Given the description of an element on the screen output the (x, y) to click on. 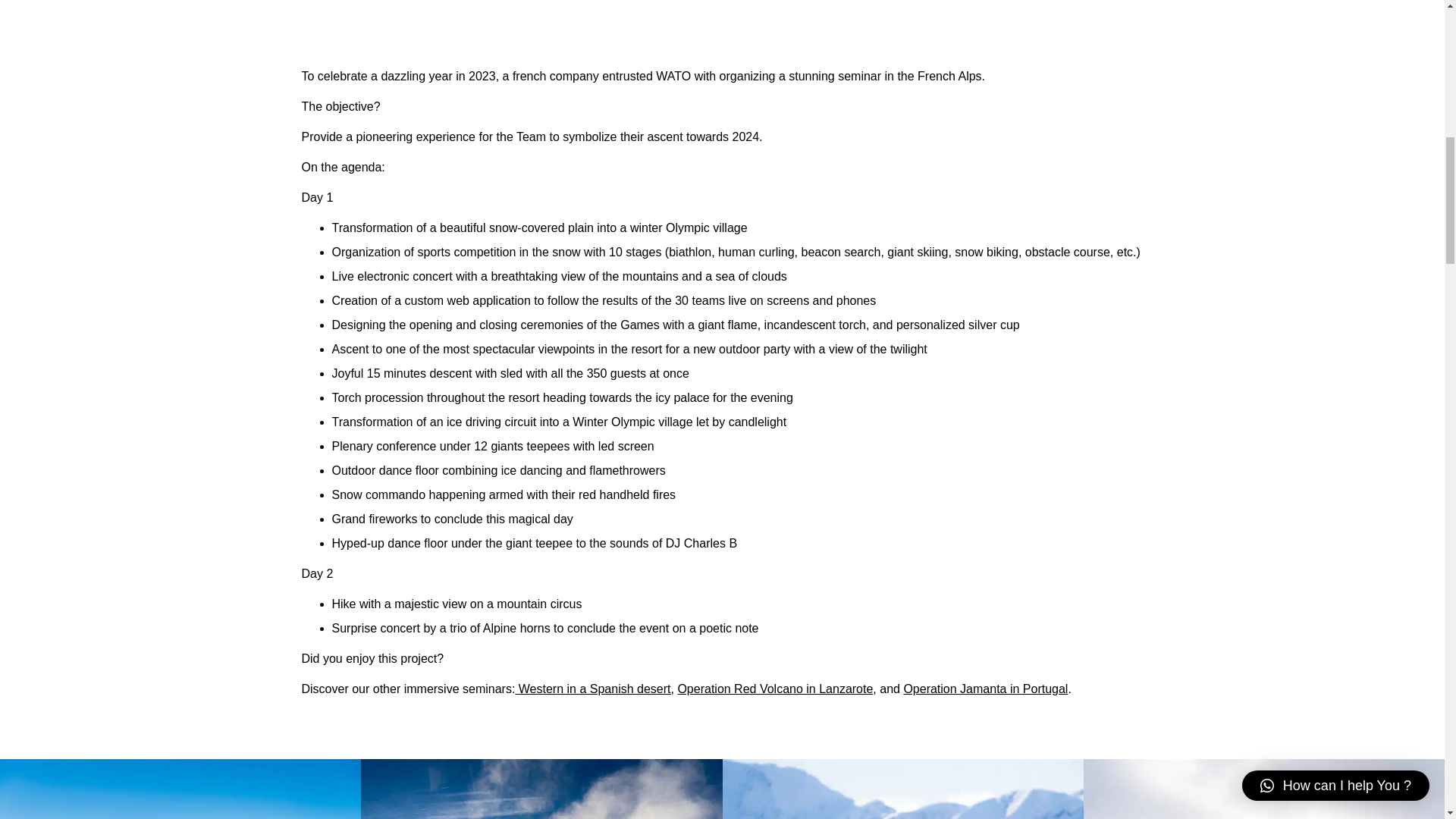
Operation Red Volcano in Lanzarote (774, 688)
Operation Jamanta in Portugal (984, 688)
Western in a Spanish desert, (594, 688)
